Given the description of an element on the screen output the (x, y) to click on. 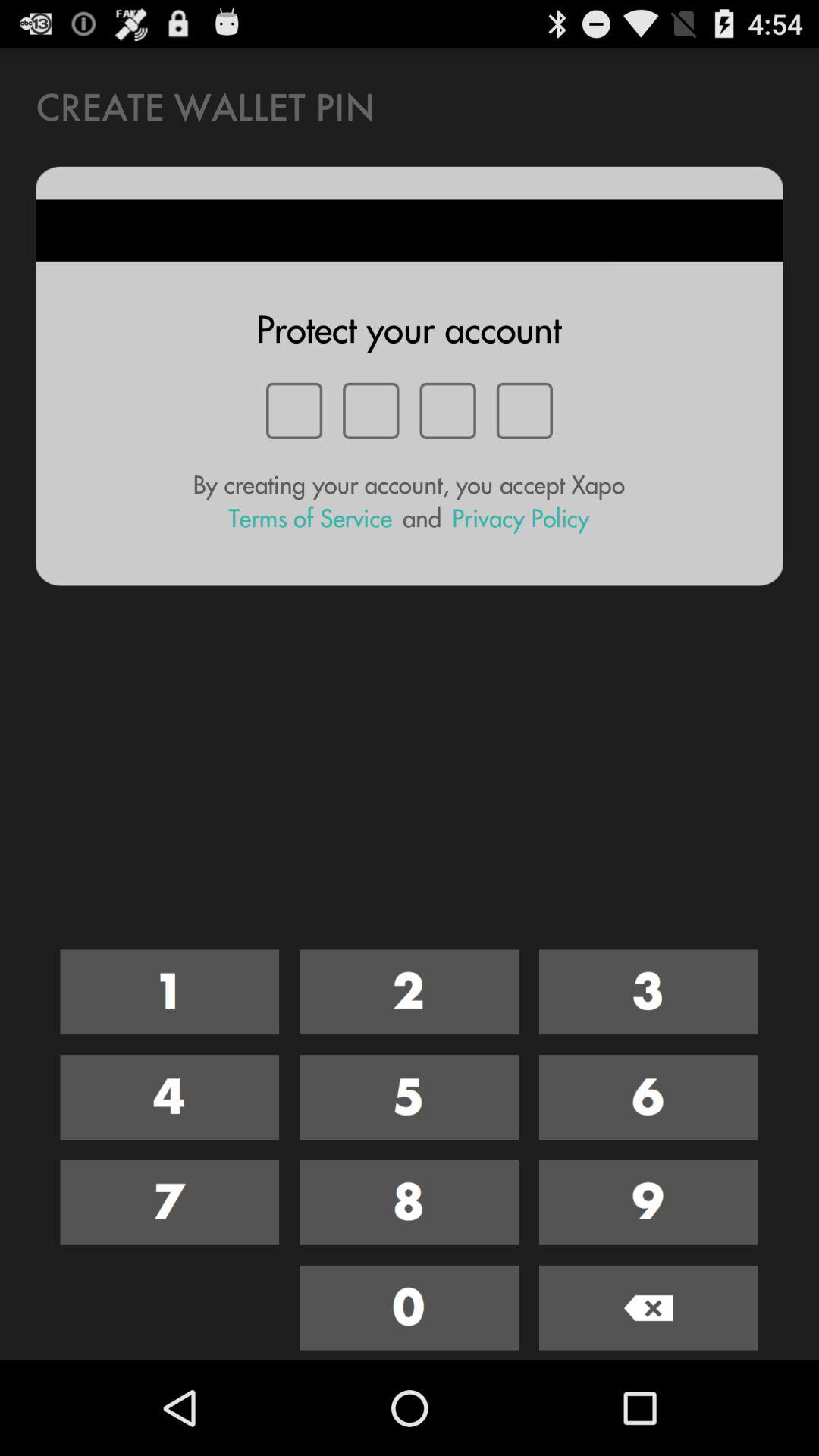
swipe until privacy policy item (520, 518)
